Given the description of an element on the screen output the (x, y) to click on. 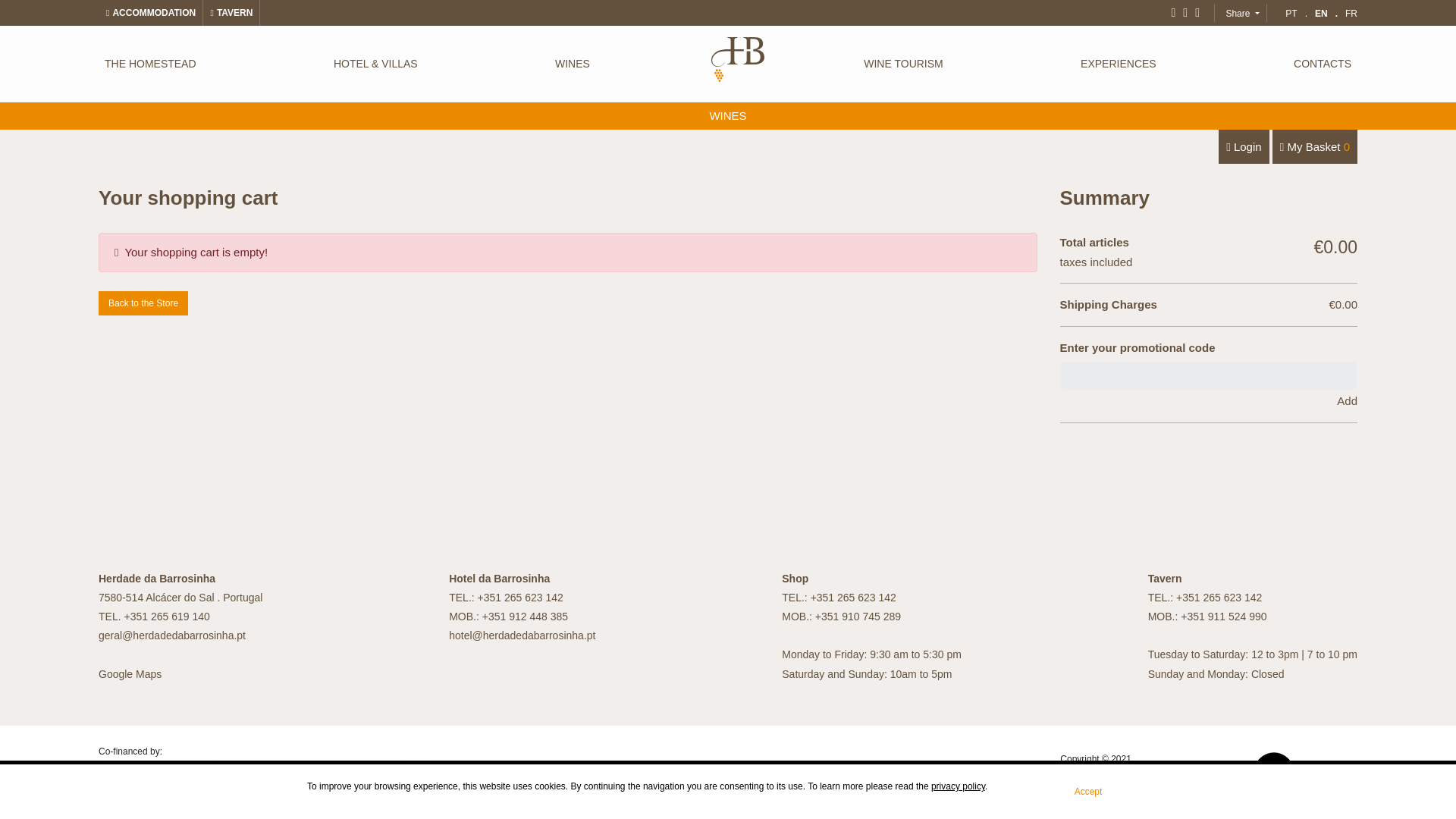
pt (1296, 13)
WINE TOURISM (903, 71)
CONTACTS (1321, 71)
WINES (727, 115)
My Basket 0 (1314, 145)
THE HOMESTEAD (150, 71)
PT (1296, 13)
EN (1326, 13)
Back to the Store (143, 303)
Share (1242, 15)
